Given the description of an element on the screen output the (x, y) to click on. 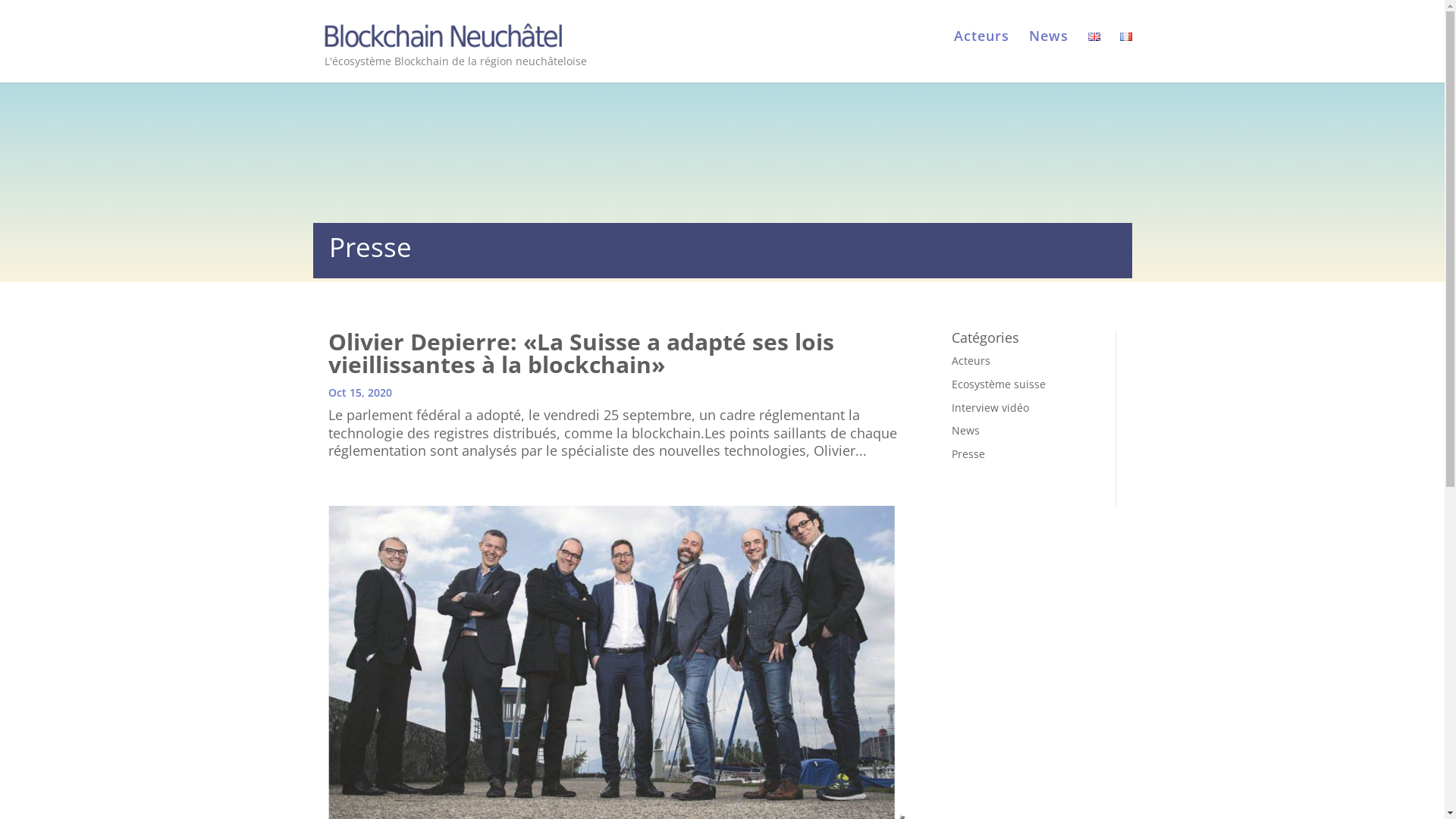
News Element type: text (965, 430)
Acteurs Element type: text (981, 50)
Presse Element type: text (968, 453)
Acteurs Element type: text (970, 360)
News Element type: text (1047, 50)
